Given the description of an element on the screen output the (x, y) to click on. 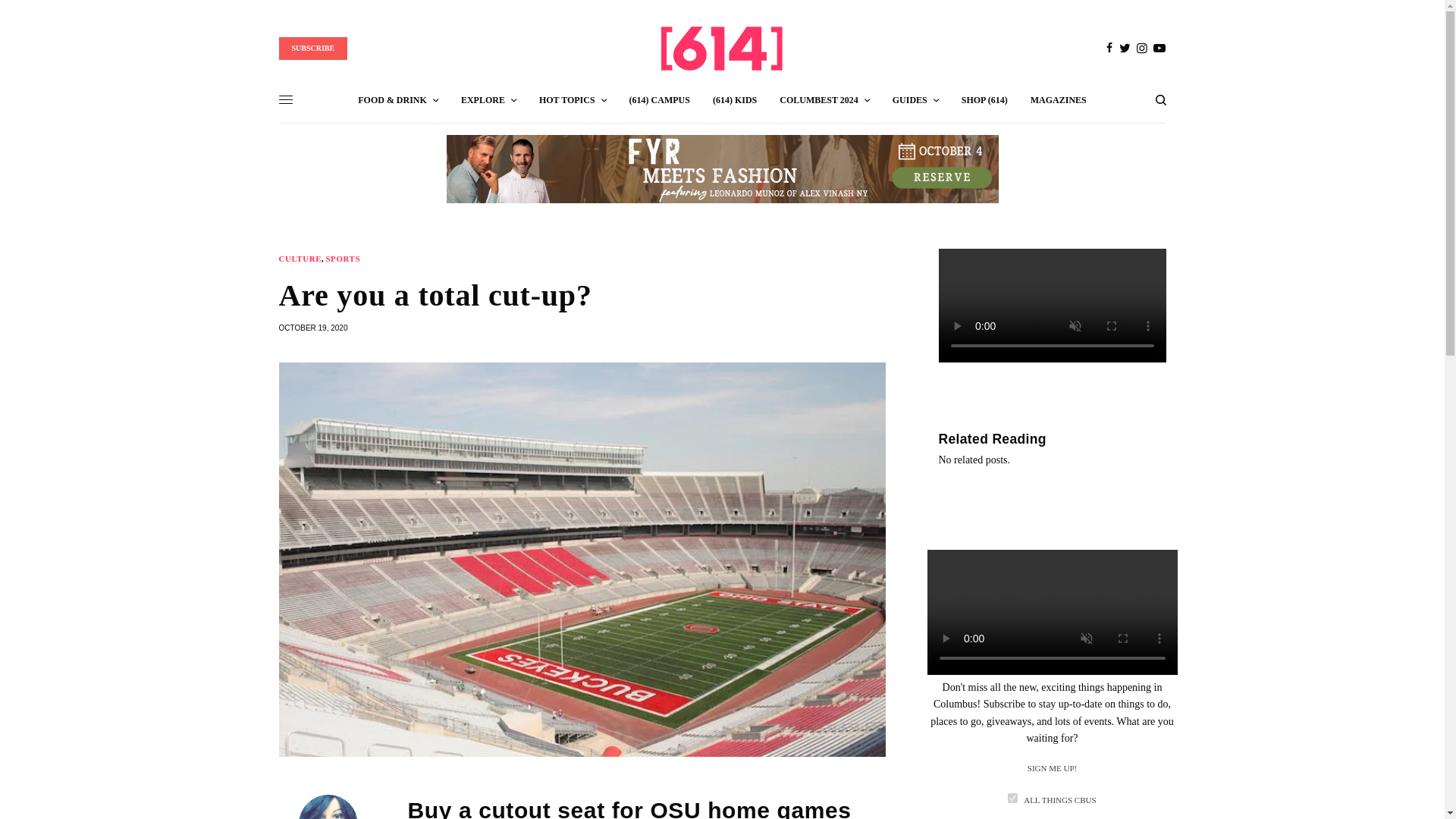
614NOW (722, 48)
HOT TOPICS (572, 99)
MAGAZINES (1058, 99)
COLUMBEST 2024 (823, 99)
e945c903ec (1012, 798)
EXPLORE (488, 99)
GUIDES (915, 99)
SUBSCRIBE (313, 47)
